Given the description of an element on the screen output the (x, y) to click on. 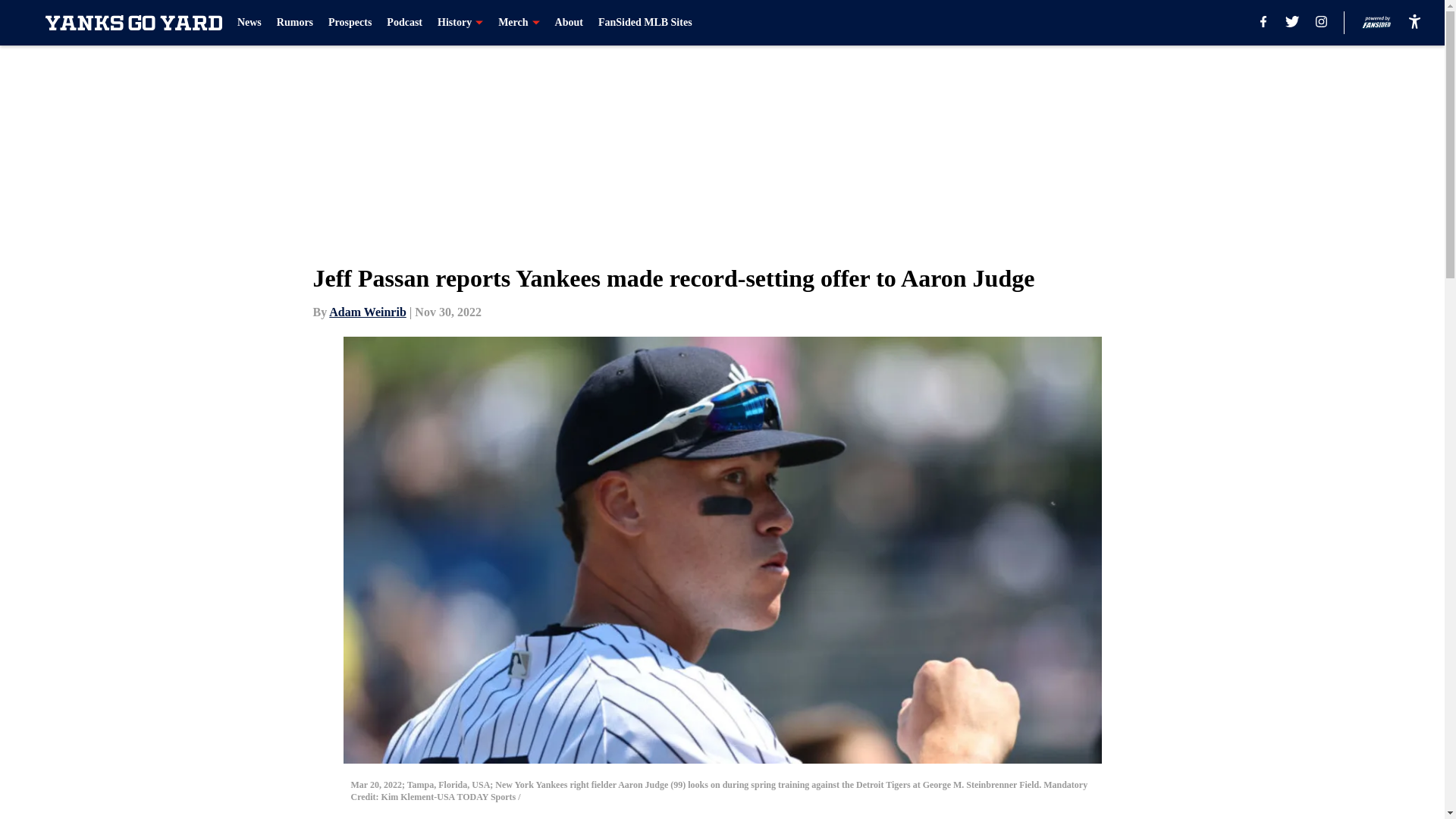
News (249, 22)
Prospects (350, 22)
Podcast (404, 22)
Adam Weinrib (367, 311)
Rumors (294, 22)
FanSided MLB Sites (645, 22)
About (568, 22)
